Given the description of an element on the screen output the (x, y) to click on. 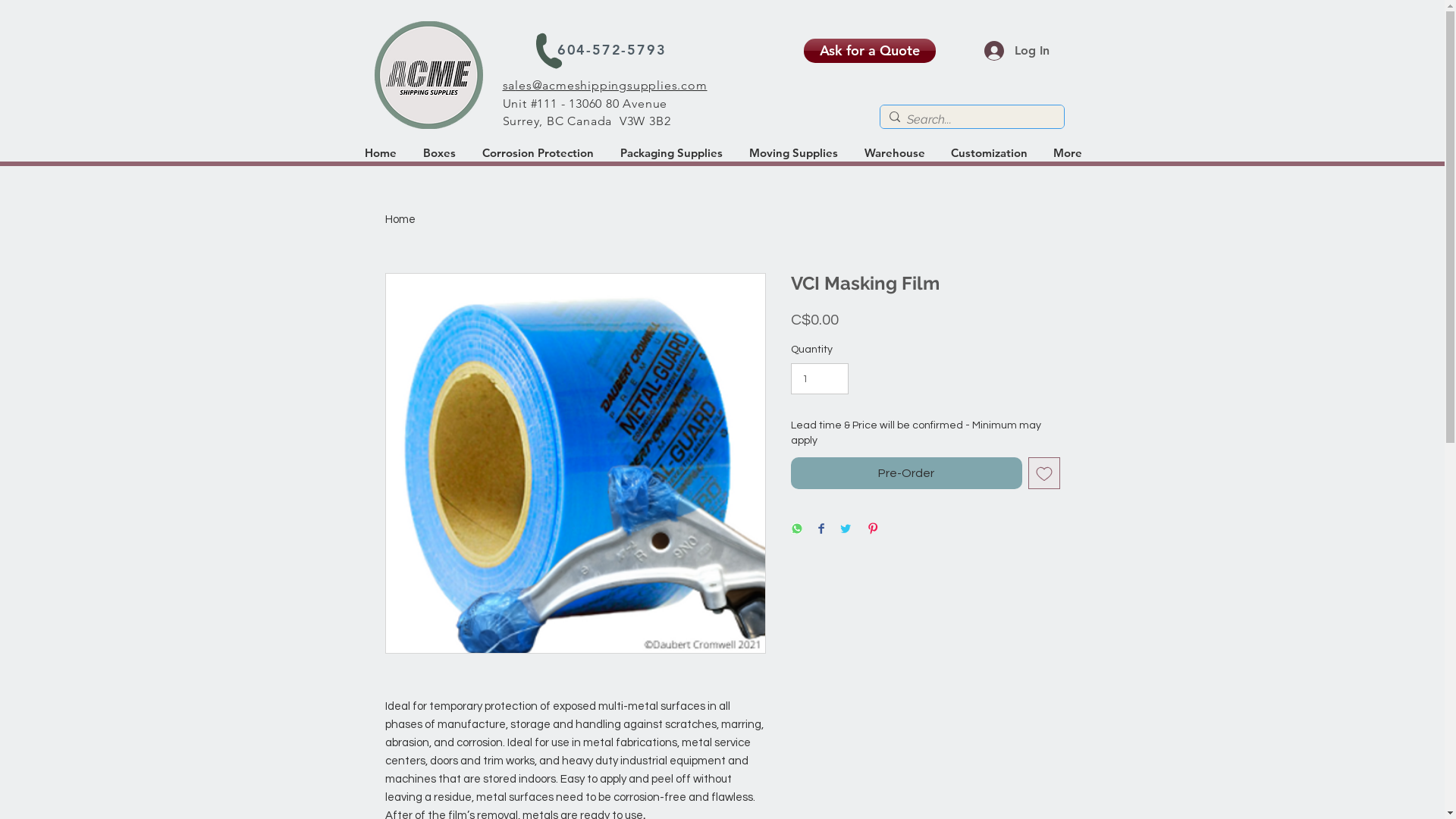
Moving Supplies Element type: text (792, 153)
Warehouse Element type: text (893, 153)
604-572-5793  Element type: text (614, 49)
Customization Element type: text (989, 153)
Boxes Element type: text (438, 153)
Packaging Supplies Element type: text (670, 153)
Home Element type: text (380, 153)
Home Element type: text (400, 219)
Corrosion Protection Element type: text (536, 153)
sa Element type: text (508, 85)
Pre-Order Element type: text (905, 473)
Acme Shipping Supplies Element type: hover (428, 74)
les@acmeshippingsupplies.com Element type: text (610, 85)
Log In Element type: text (1016, 50)
Ask for a Quote Element type: text (869, 50)
